Given the description of an element on the screen output the (x, y) to click on. 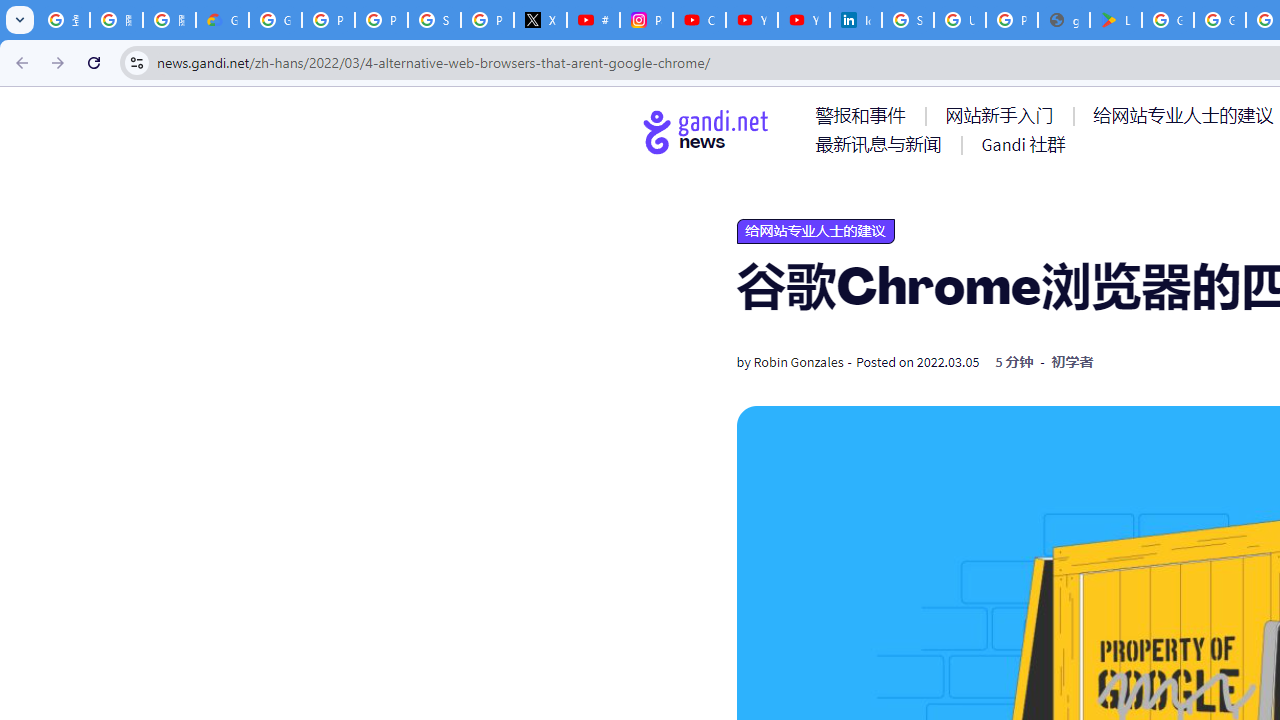
X (540, 20)
Google Cloud Privacy Notice (222, 20)
Google Workspace - Specific Terms (1219, 20)
Privacy Help Center - Policies Help (381, 20)
YouTube Culture & Trends - YouTube Top 10, 2021 (803, 20)
Privacy Help Center - Policies Help (328, 20)
Last Shelter: Survival - Apps on Google Play (1115, 20)
Go to home (706, 131)
